Given the description of an element on the screen output the (x, y) to click on. 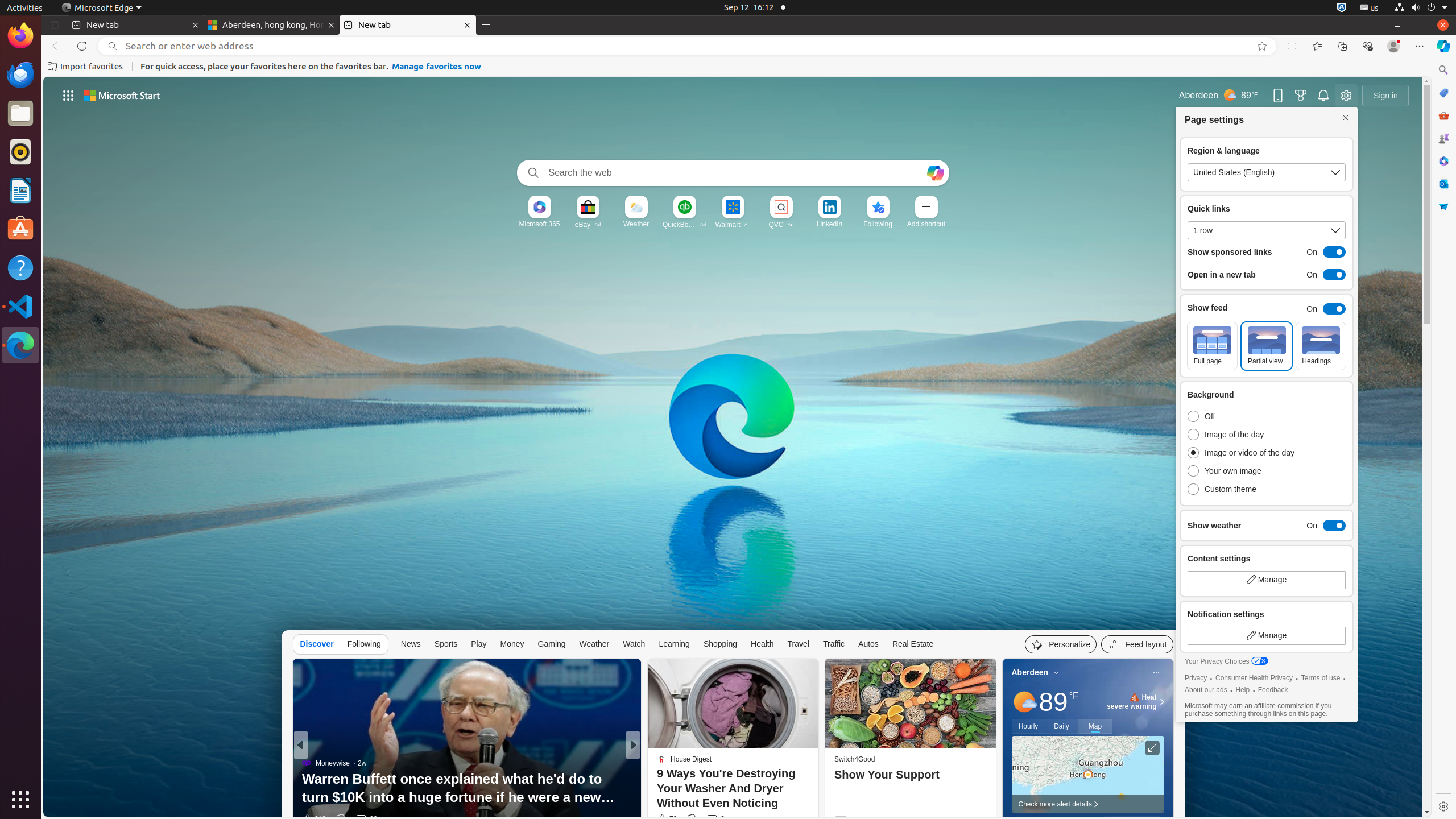
Personalize your feed" Element type: push-button (1060, 644)
Microsoft start Element type: link (121, 95)
Close Element type: push-button (1345, 118)
Terms of use Element type: link (1320, 677)
Add this page to favorites (Ctrl+D) Element type: push-button (1261, 46)
